Given the description of an element on the screen output the (x, y) to click on. 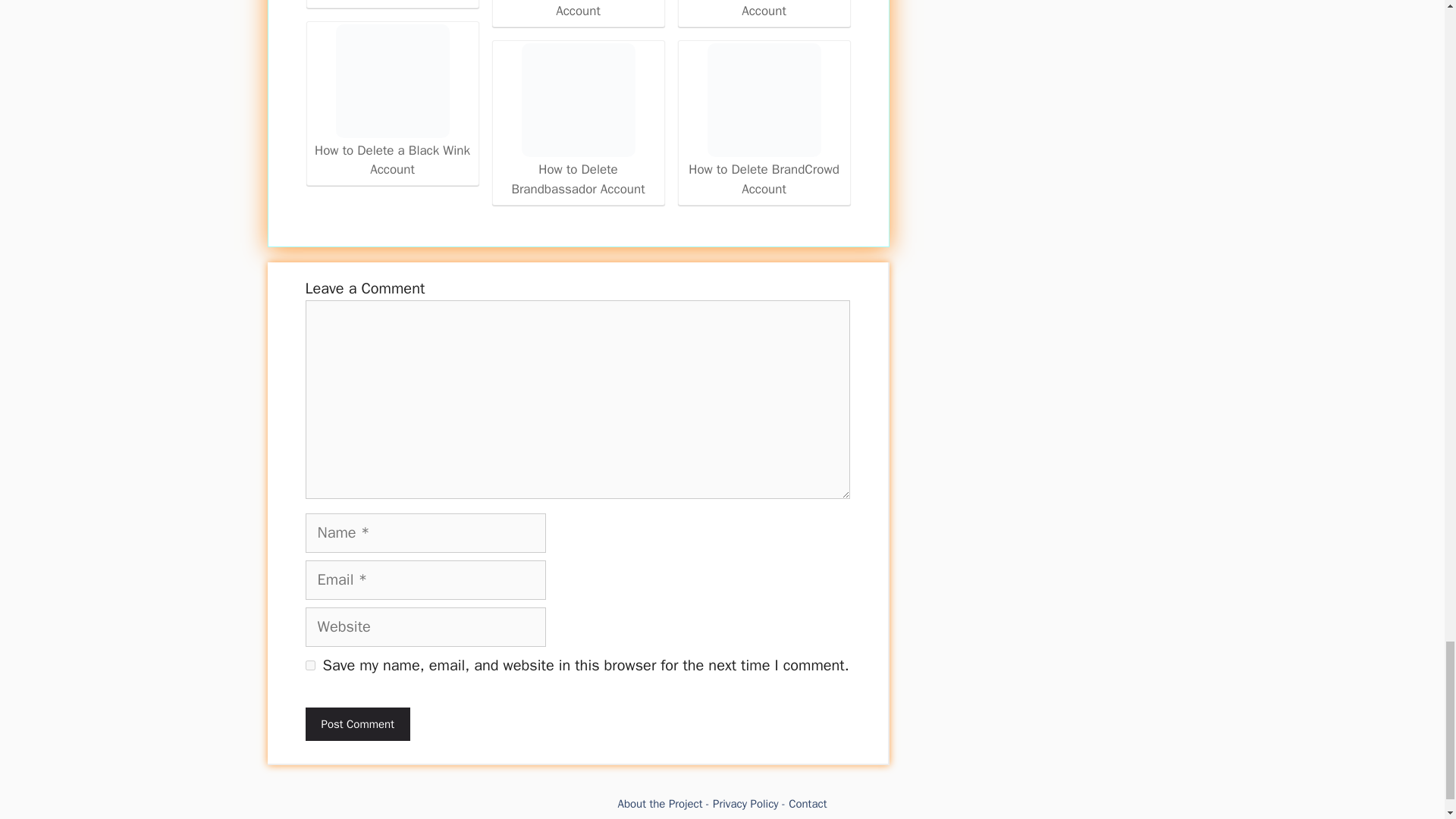
How to Delete BrandCrowd Account (764, 121)
How to Delete CatholicMatch Account (764, 10)
Post Comment (356, 724)
How to Delete Brandbassador Account (578, 121)
How to Delete a Black Wink Account (391, 81)
Post Comment (356, 724)
How to Delete a Black Wink Account (392, 102)
yes (309, 665)
How to Delete a Buyee Account (578, 11)
Can't Delete Bumble Account (392, 2)
